Given the description of an element on the screen output the (x, y) to click on. 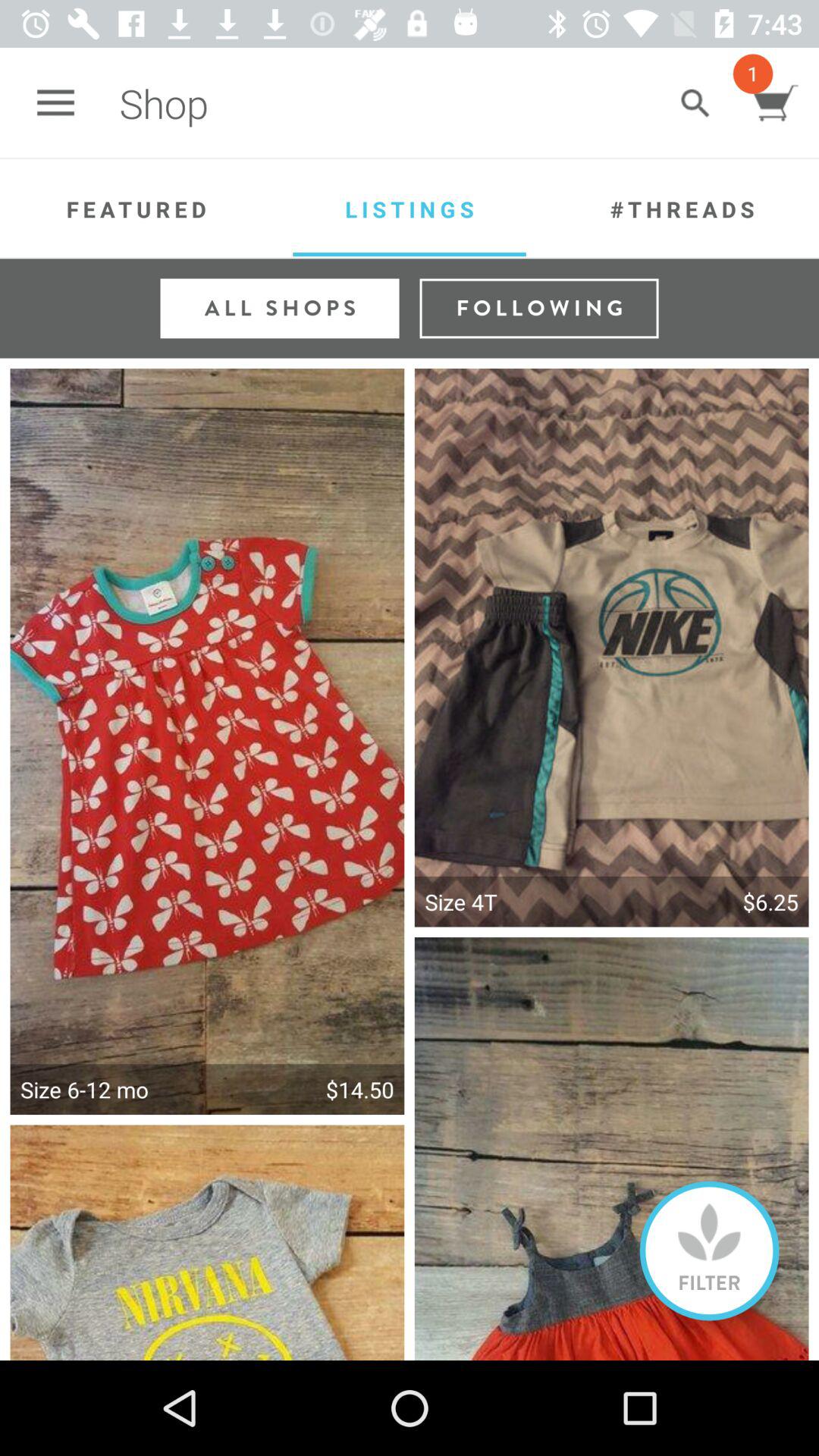
jump to on (709, 1250)
